Given the description of an element on the screen output the (x, y) to click on. 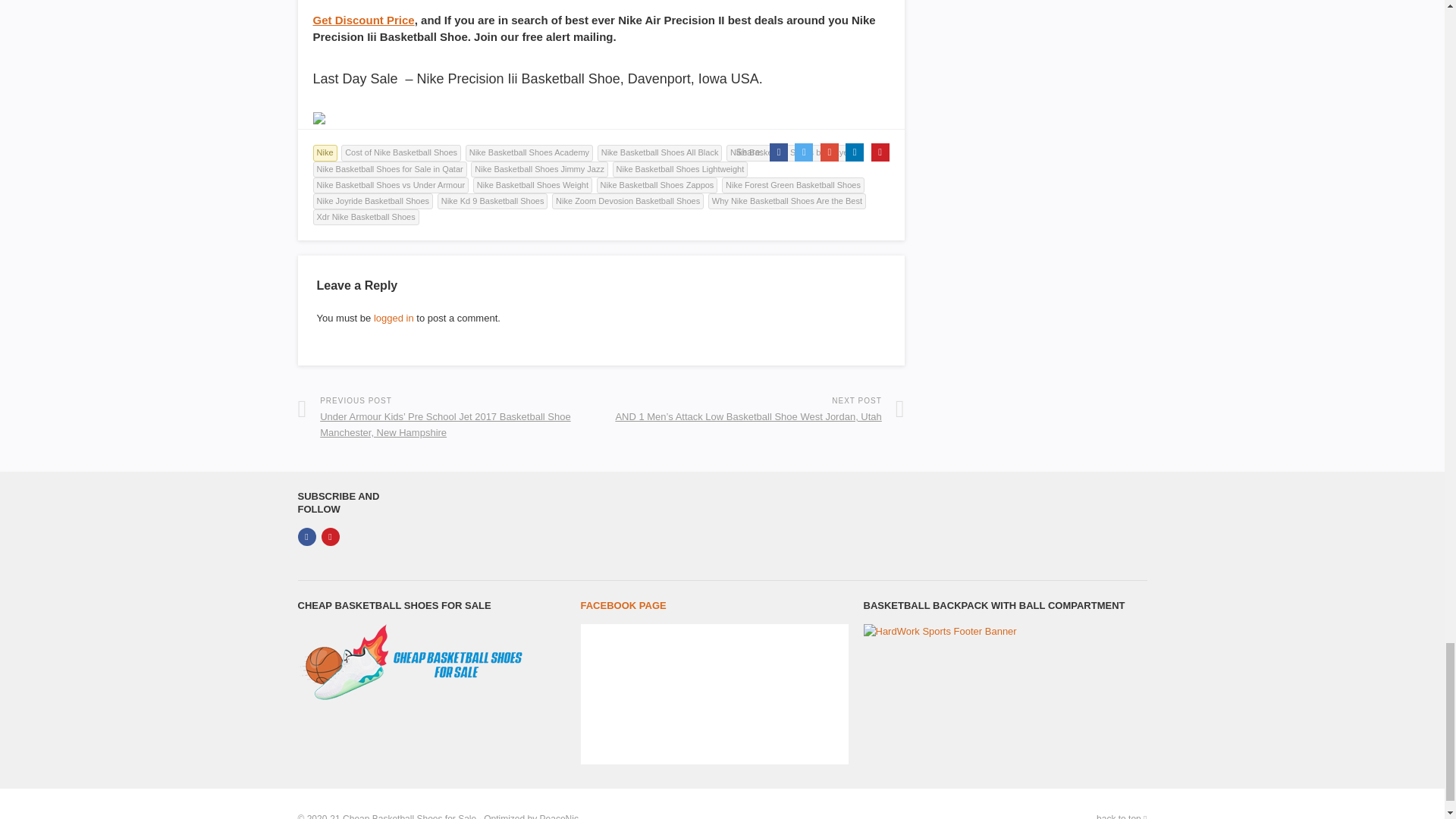
Nike Basketball Shoes All Black (659, 152)
Nike (324, 152)
Nike Basketball Shoes Academy (528, 152)
Get Discount Price (363, 19)
Cost of Nike Basketball Shoes (400, 152)
